Given the description of an element on the screen output the (x, y) to click on. 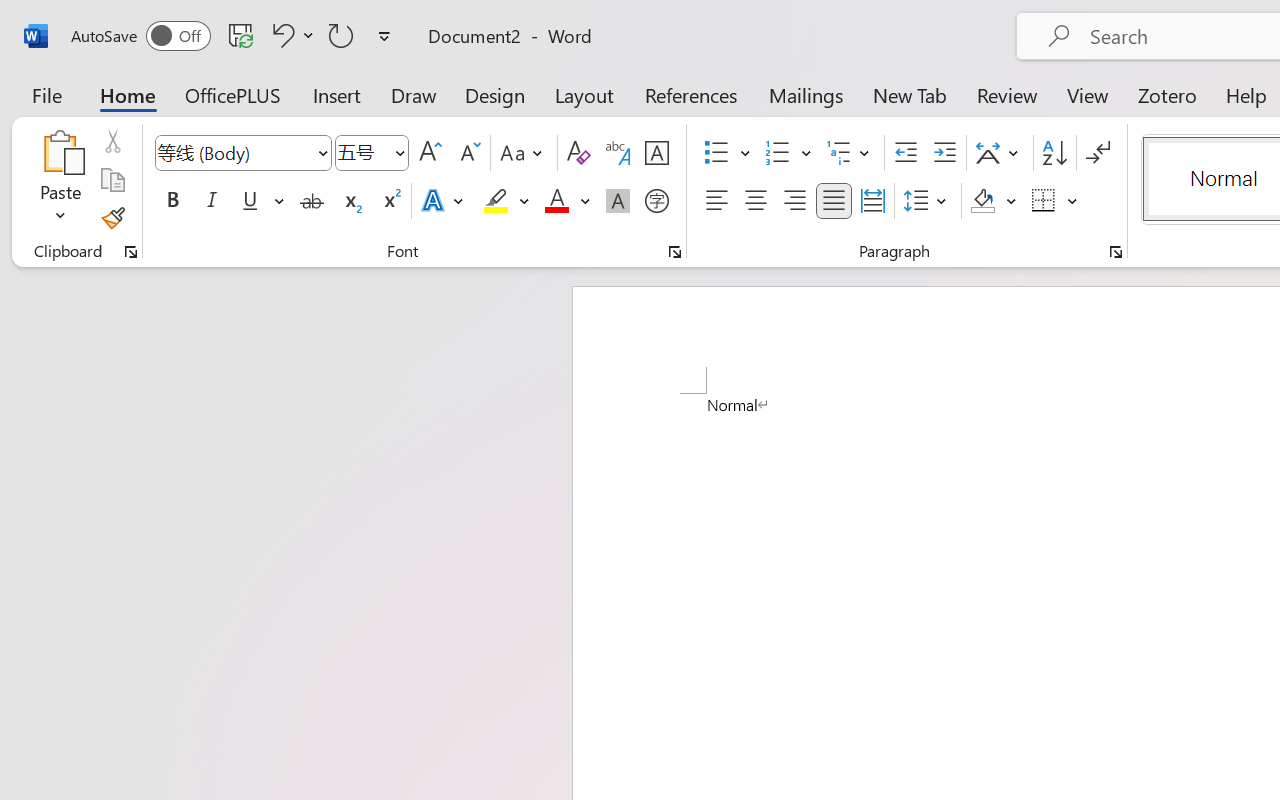
Customize Quick Access Toolbar (384, 35)
Italic (212, 201)
Draw (413, 94)
Strikethrough (312, 201)
Line and Paragraph Spacing (927, 201)
Font... (675, 252)
Bullets (716, 153)
Font Color Red (556, 201)
Font Size (362, 152)
Cut (112, 141)
Shading RGB(0, 0, 0) (982, 201)
Enclose Characters... (656, 201)
Underline (261, 201)
Bullets (727, 153)
Paste (60, 151)
